Given the description of an element on the screen output the (x, y) to click on. 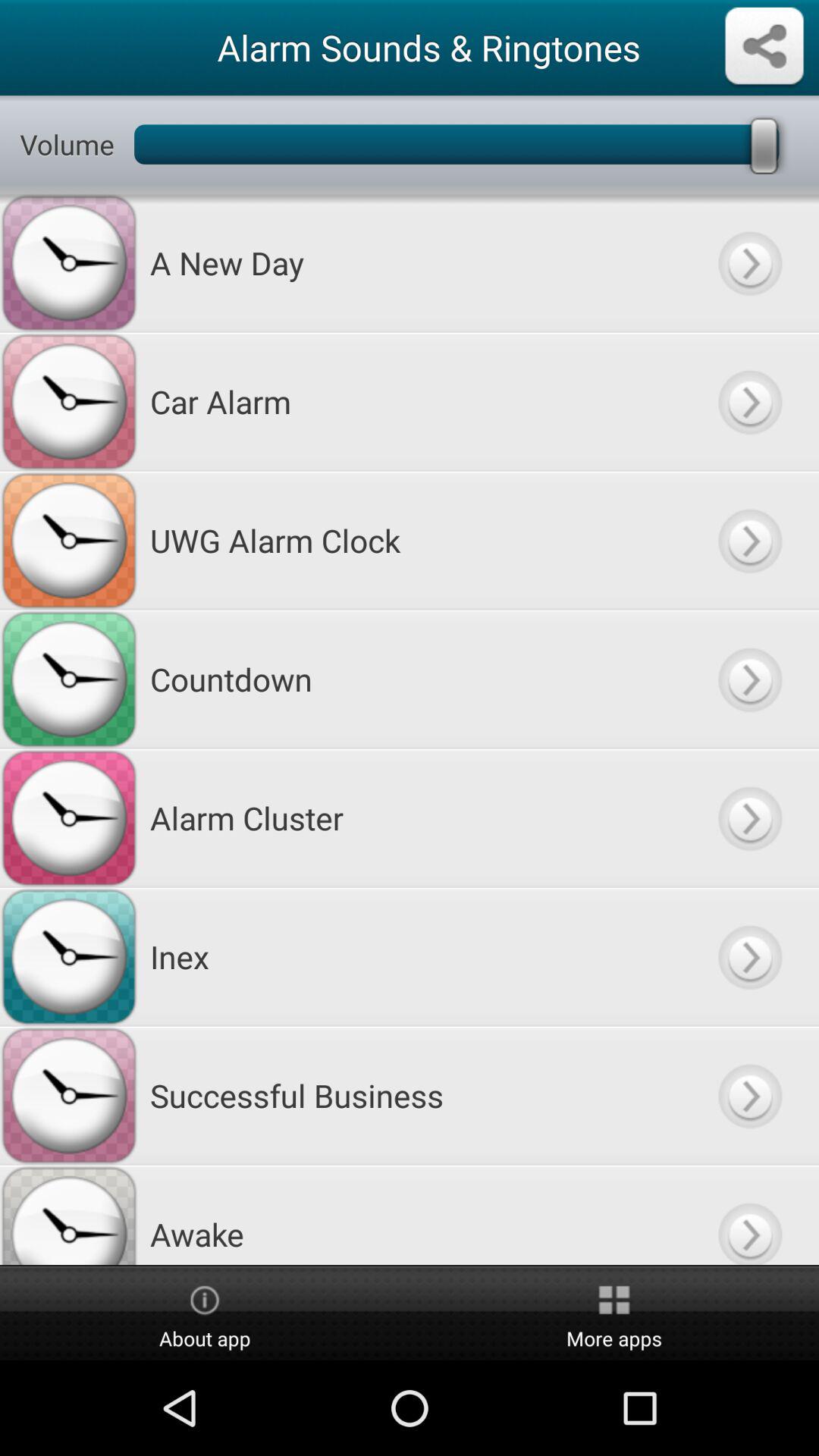
click on the right of about app (614, 1313)
arrow button right to successful business text (749, 1095)
